Given the description of an element on the screen output the (x, y) to click on. 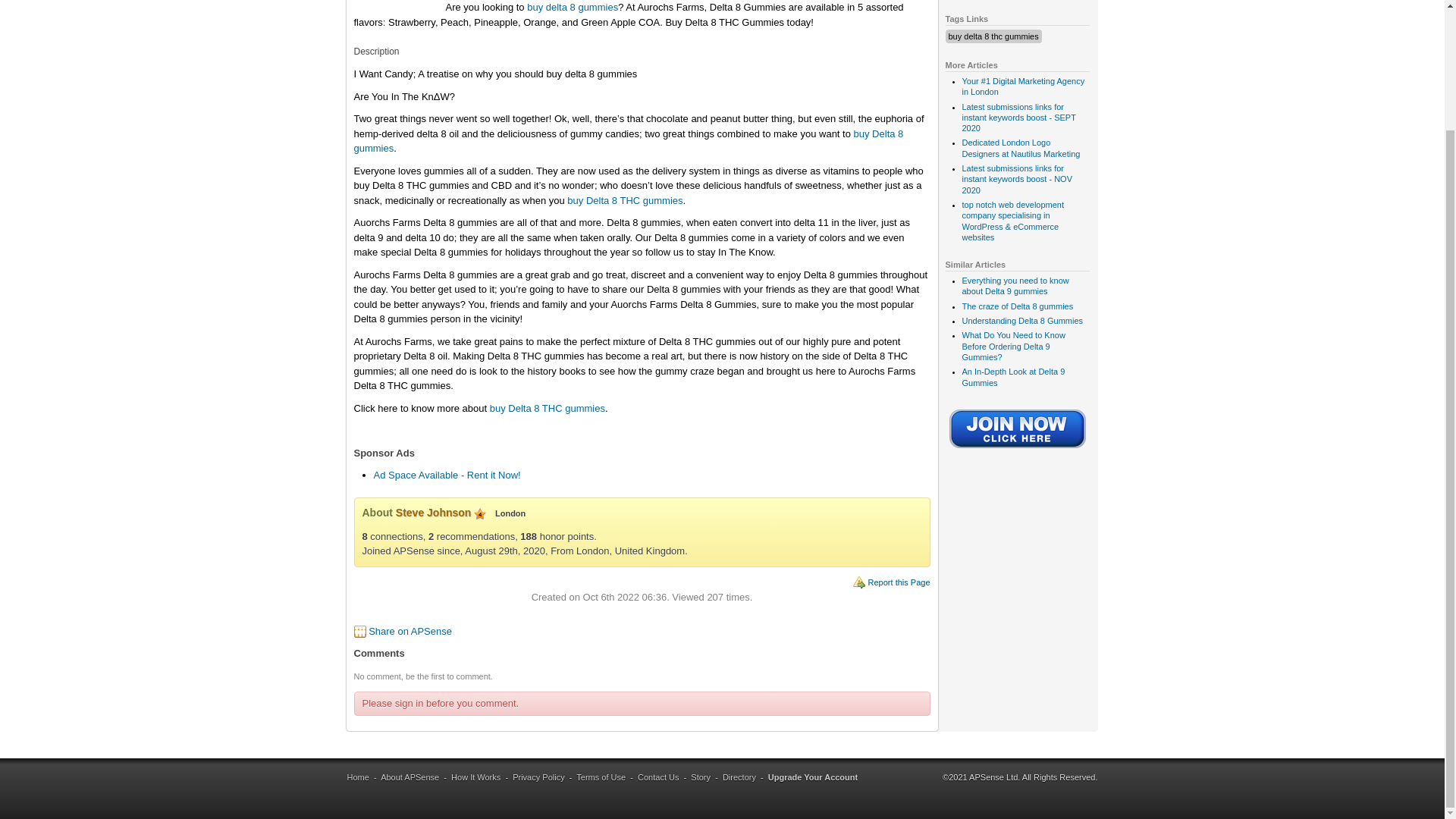
Dedicated London Logo Designers at Nautilus Marketing (1020, 148)
Report this Page (898, 582)
buy Delta 8 THC gummies (547, 408)
Share on APSense (409, 631)
Advanced (480, 513)
What Do You Need to Know Before Ordering Delta 9 Gummies? (1012, 345)
Understanding Delta 8 Gummies (1021, 320)
buy Delta 8 THC gummies (624, 200)
buy Delta 8 gummies (627, 140)
Join APSense Social Network (1017, 449)
The craze of Delta 8 gummies (1016, 306)
